Given the description of an element on the screen output the (x, y) to click on. 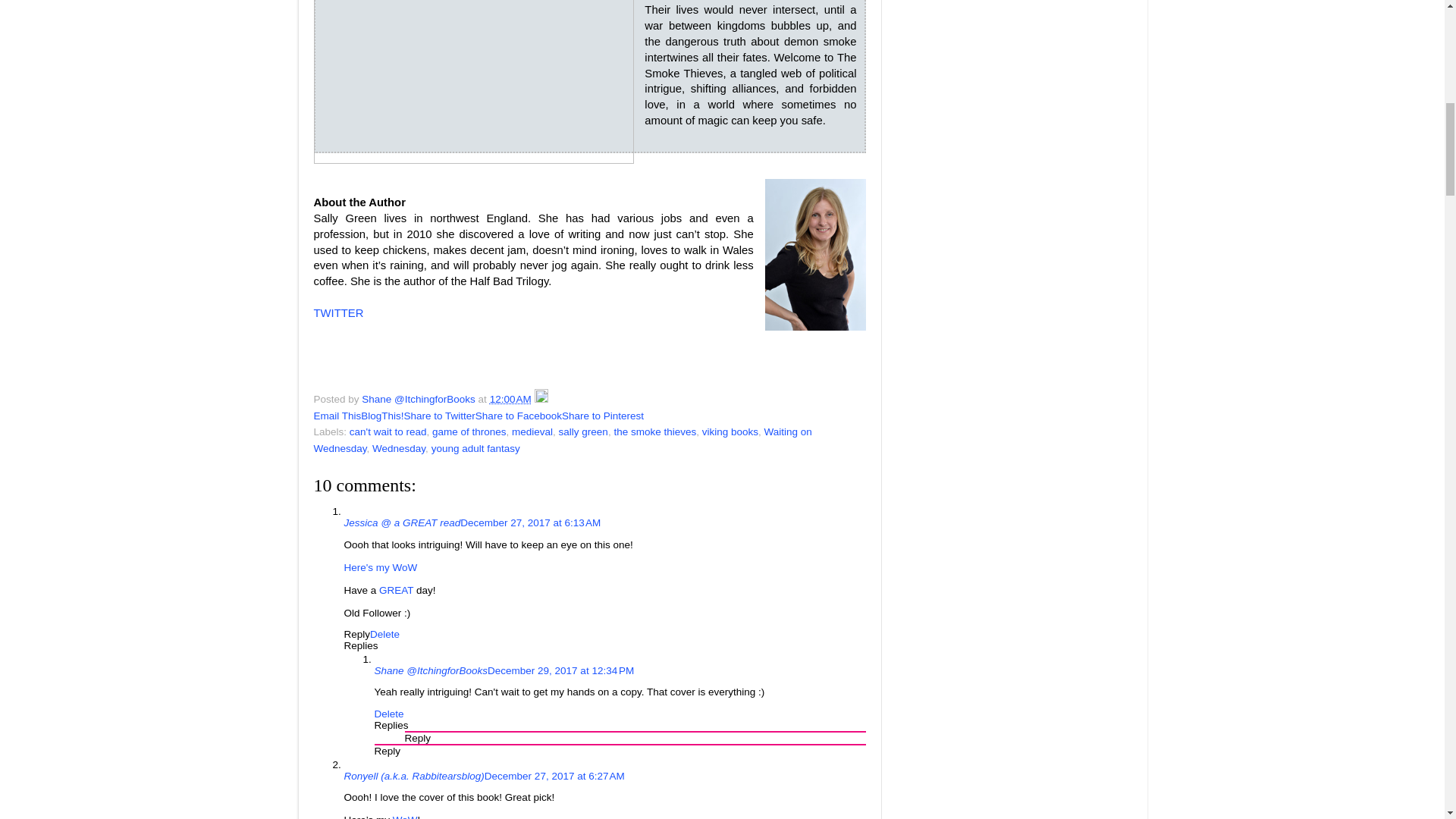
Wednesday (398, 448)
medieval (532, 431)
Email This (337, 415)
Email This (337, 415)
Share to Pinterest (602, 415)
viking books (729, 431)
TWITTER (339, 313)
Share to Pinterest (602, 415)
Share to Twitter (440, 415)
Share to Facebook (519, 415)
game of thrones (469, 431)
BlogThis! (382, 415)
GREAT (395, 590)
Edit Post (541, 398)
